Given the description of an element on the screen output the (x, y) to click on. 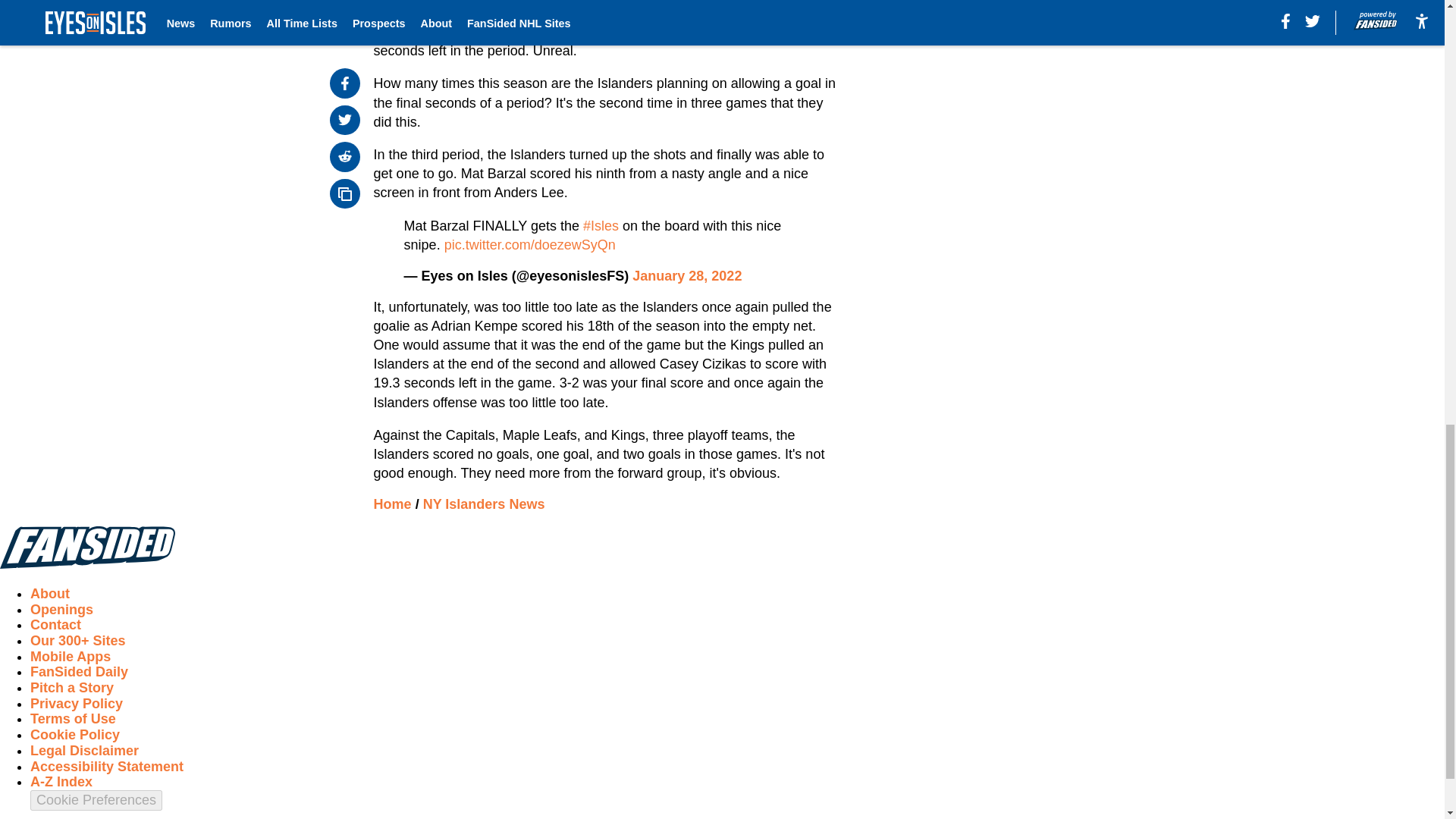
FanSided Daily (79, 671)
Home (393, 503)
Openings (61, 609)
Contact (55, 624)
About (49, 593)
Mobile Apps (70, 656)
NY Islanders News (483, 503)
January 28, 2022 (686, 275)
